Given the description of an element on the screen output the (x, y) to click on. 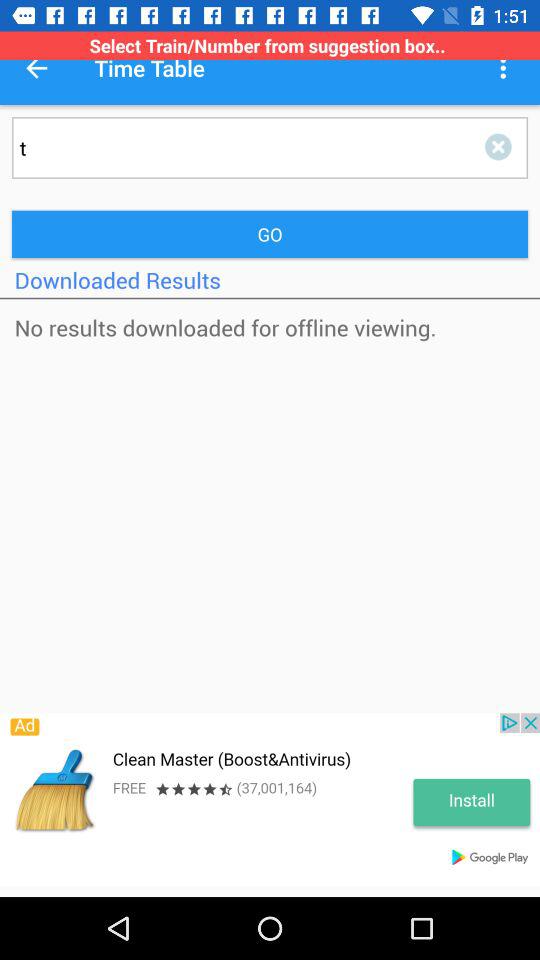
advertiser banner (270, 799)
